Given the description of an element on the screen output the (x, y) to click on. 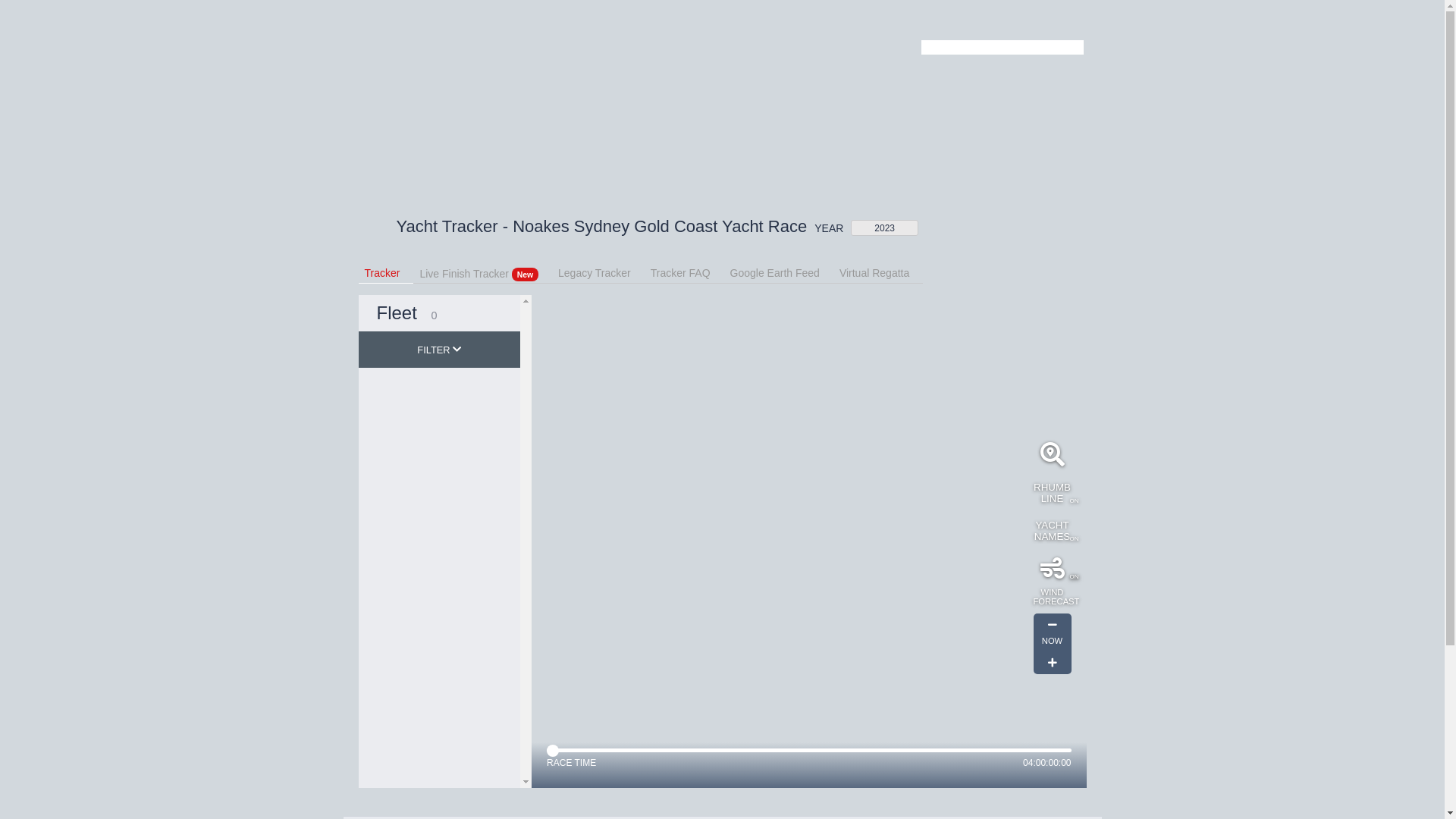
Google Earth Feed Element type: text (781, 271)
Live Finish Tracker New Element type: text (485, 271)
YACHT NAMES
ON Element type: text (1051, 530)
News Element type: text (481, 79)
Tracker Element type: text (634, 79)
ON Element type: text (1051, 568)
Videos Element type: text (581, 79)
For Spectators Element type: text (1021, 18)
Tracker Element type: text (388, 271)
RHUMB LINE
ON Element type: text (1051, 492)
The Yachts Element type: text (769, 79)
Virtual Regatta Element type: text (880, 271)
Photos Element type: text (530, 79)
FILTER Element type: text (438, 349)
Noakes Sydney Gold Coast Yacht Race 2023 Element type: text (370, 67)
For Competitors Element type: text (944, 18)
Tracker FAQ Element type: text (687, 271)
Legacy Tracker Element type: text (601, 271)
Results Element type: text (698, 79)
